Given the description of an element on the screen output the (x, y) to click on. 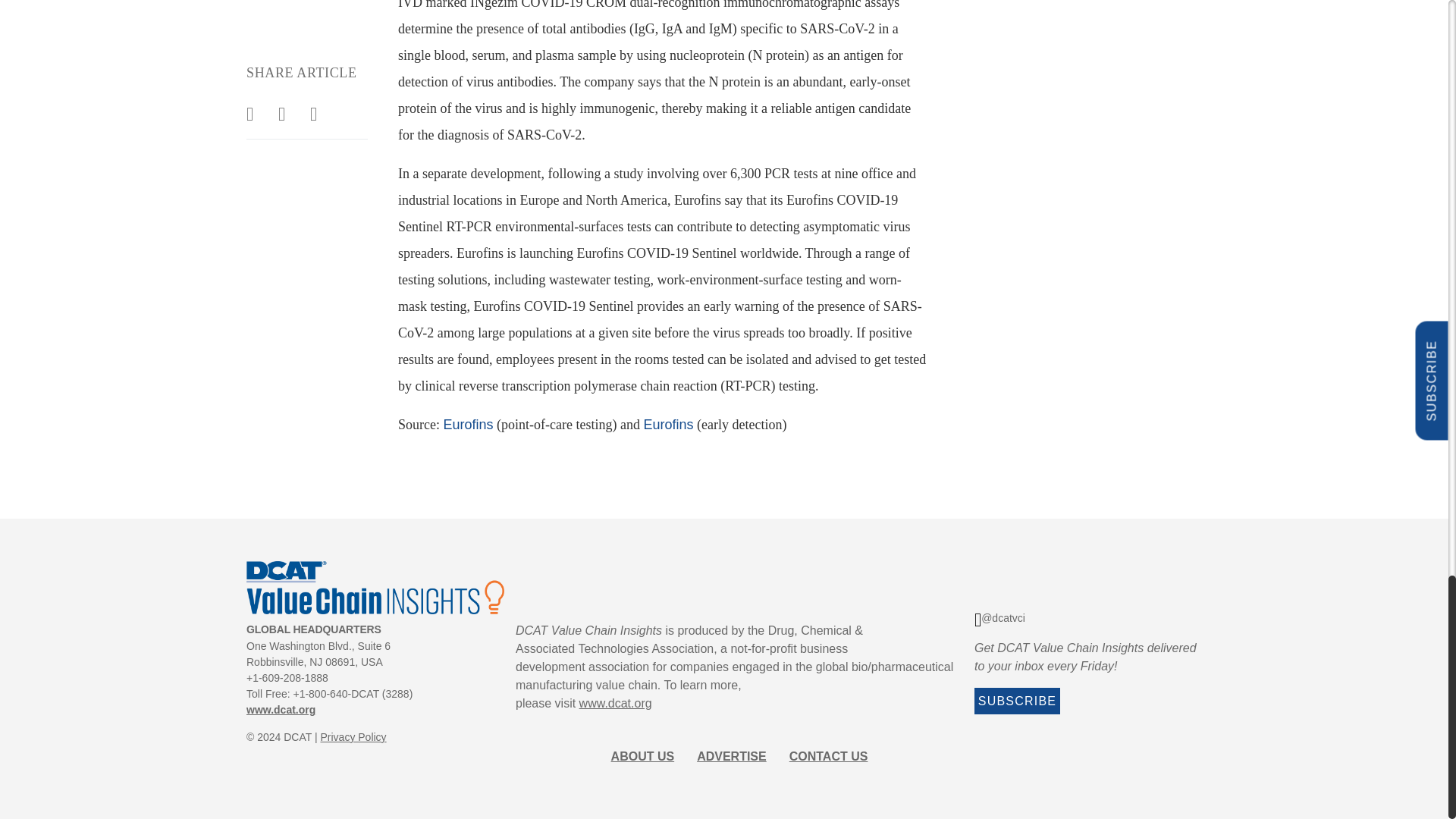
Eurofins (467, 424)
Privacy Policy (352, 736)
Eurofins (668, 424)
www.dcat.org (280, 709)
